Given the description of an element on the screen output the (x, y) to click on. 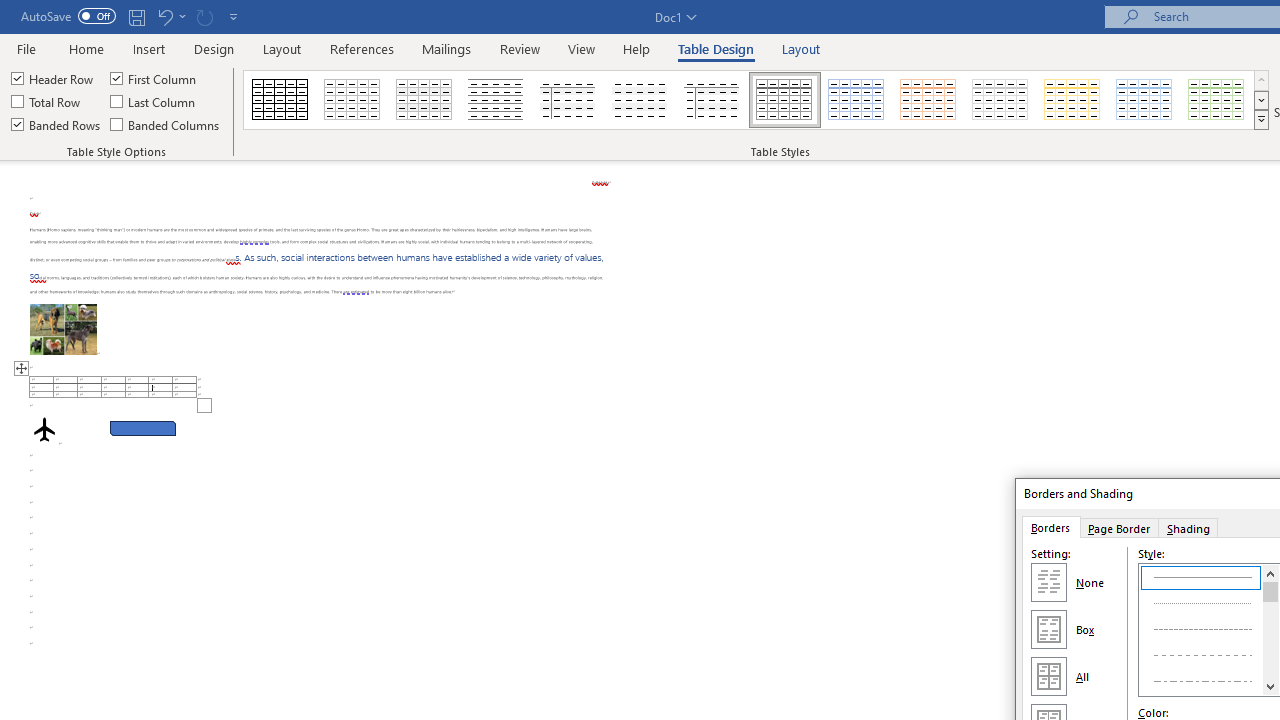
Table Grid (280, 100)
File Tab (26, 48)
Plain Table 2 (496, 100)
Airplane with solid fill (43, 429)
First Column (155, 78)
Line up (1270, 573)
Class: NetUIImage (1261, 119)
Grid Table 1 Light - Accent 3 (1000, 100)
Table Styles (1261, 120)
Review (520, 48)
Save (136, 15)
Header Row (53, 78)
Page Border (1118, 527)
